Given the description of an element on the screen output the (x, y) to click on. 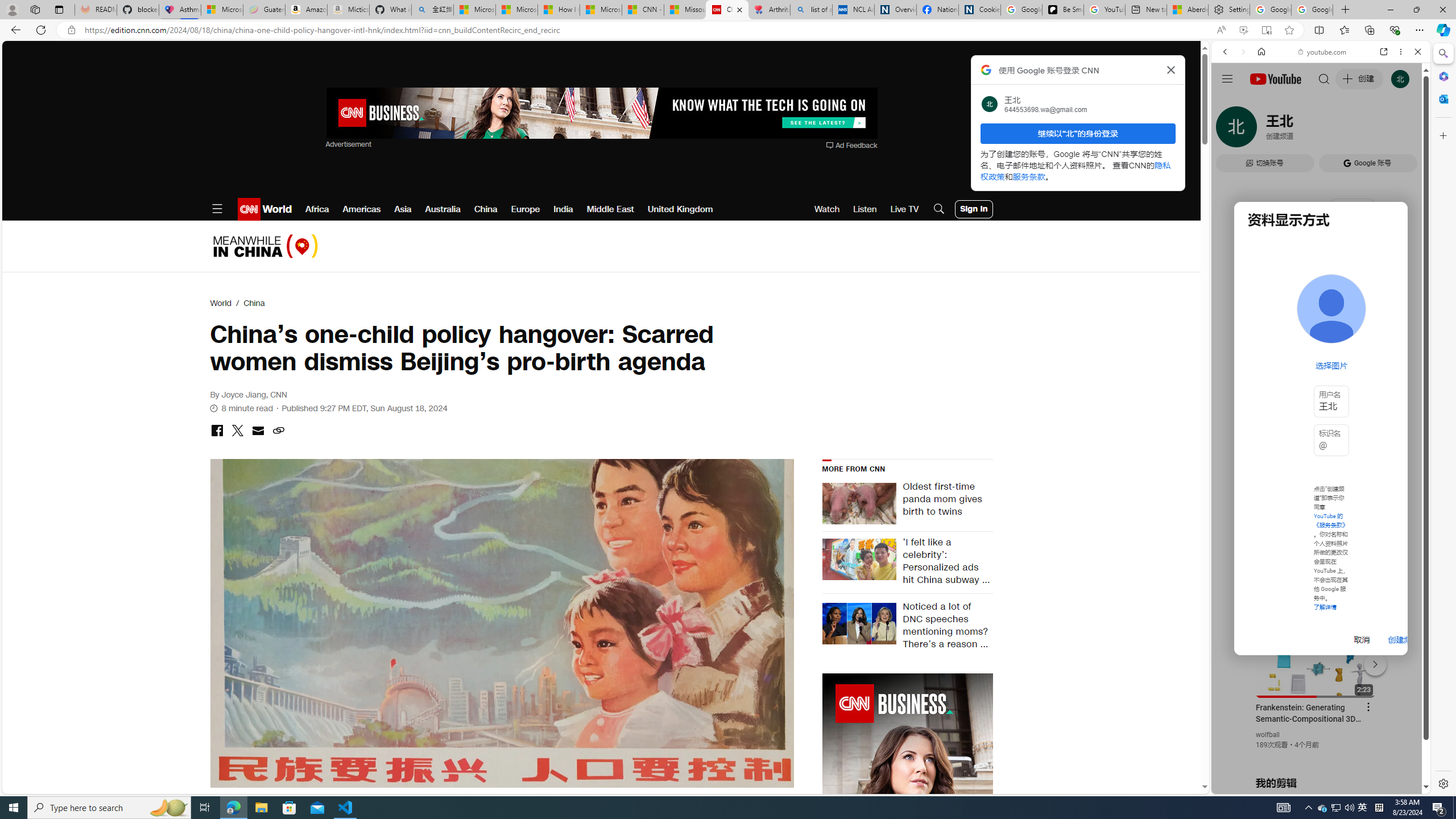
Open Menu Icon (216, 208)
Cookies (979, 9)
Europe (525, 209)
Australia (442, 209)
Class: icon-social-twitter (237, 430)
share with facebook (216, 430)
CNN logo (248, 209)
Listen (864, 208)
This site scope (1259, 102)
